Given the description of an element on the screen output the (x, y) to click on. 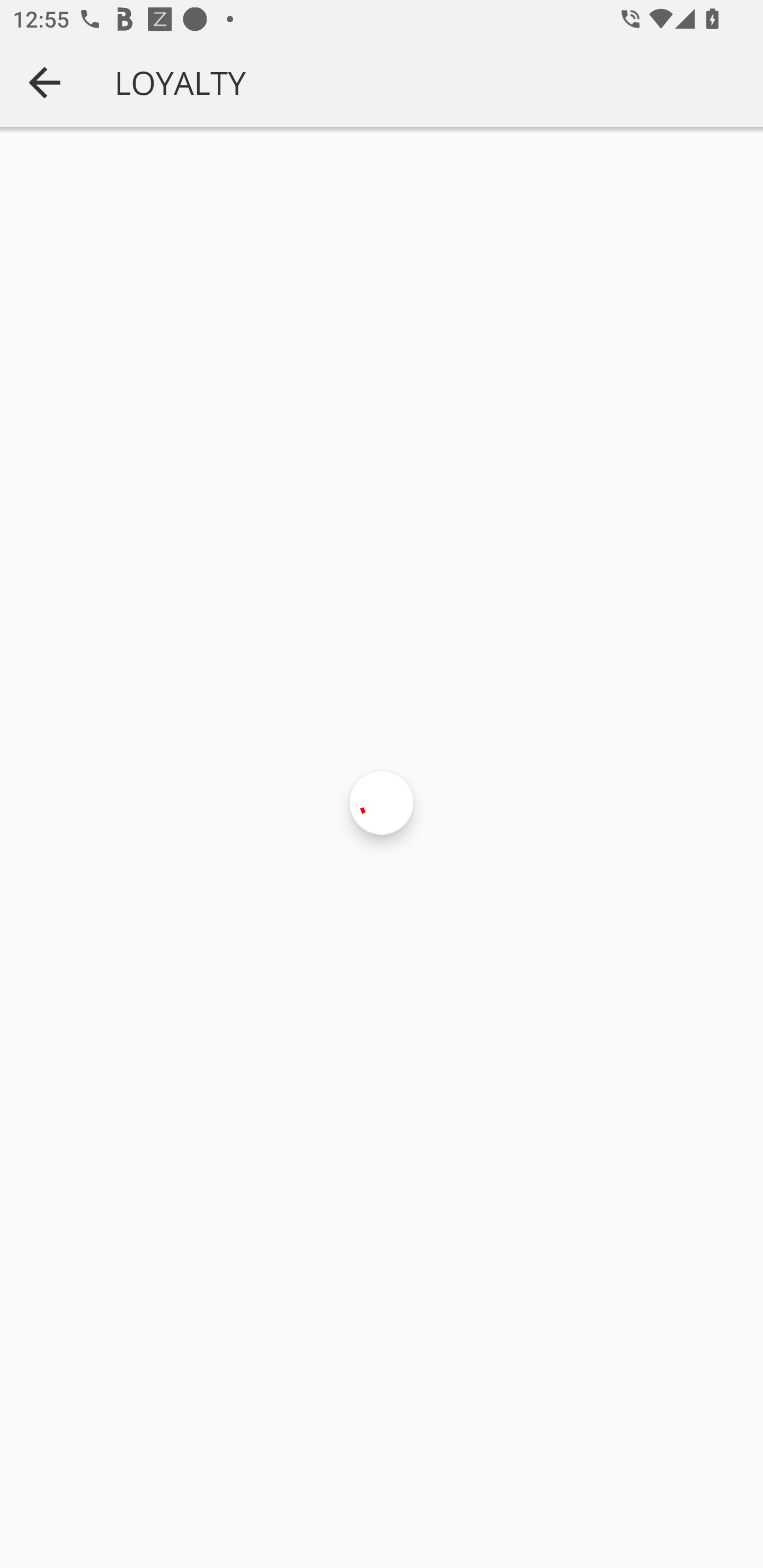
Navigate up (44, 82)
